Given the description of an element on the screen output the (x, y) to click on. 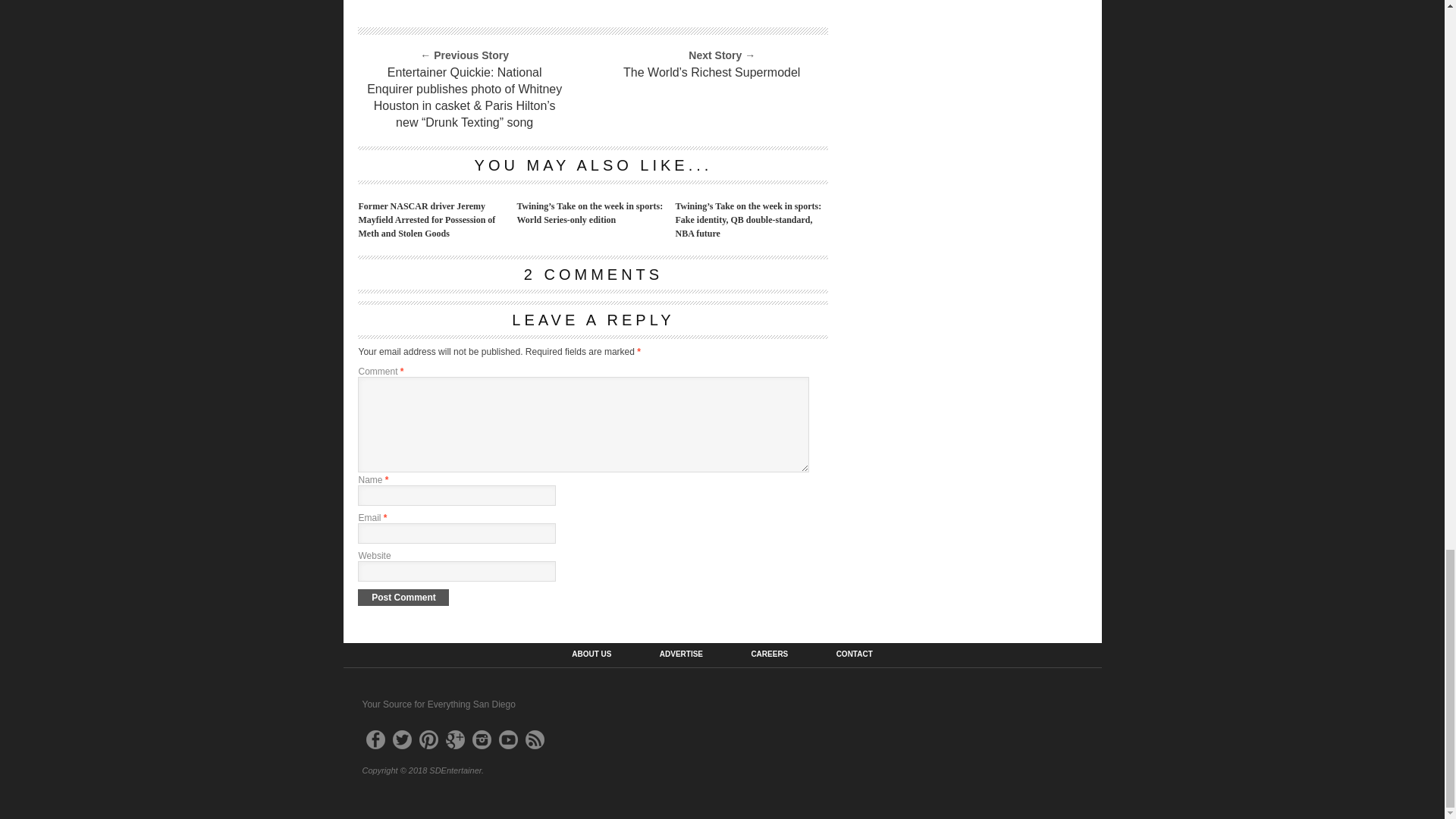
Post Comment (403, 597)
